Given the description of an element on the screen output the (x, y) to click on. 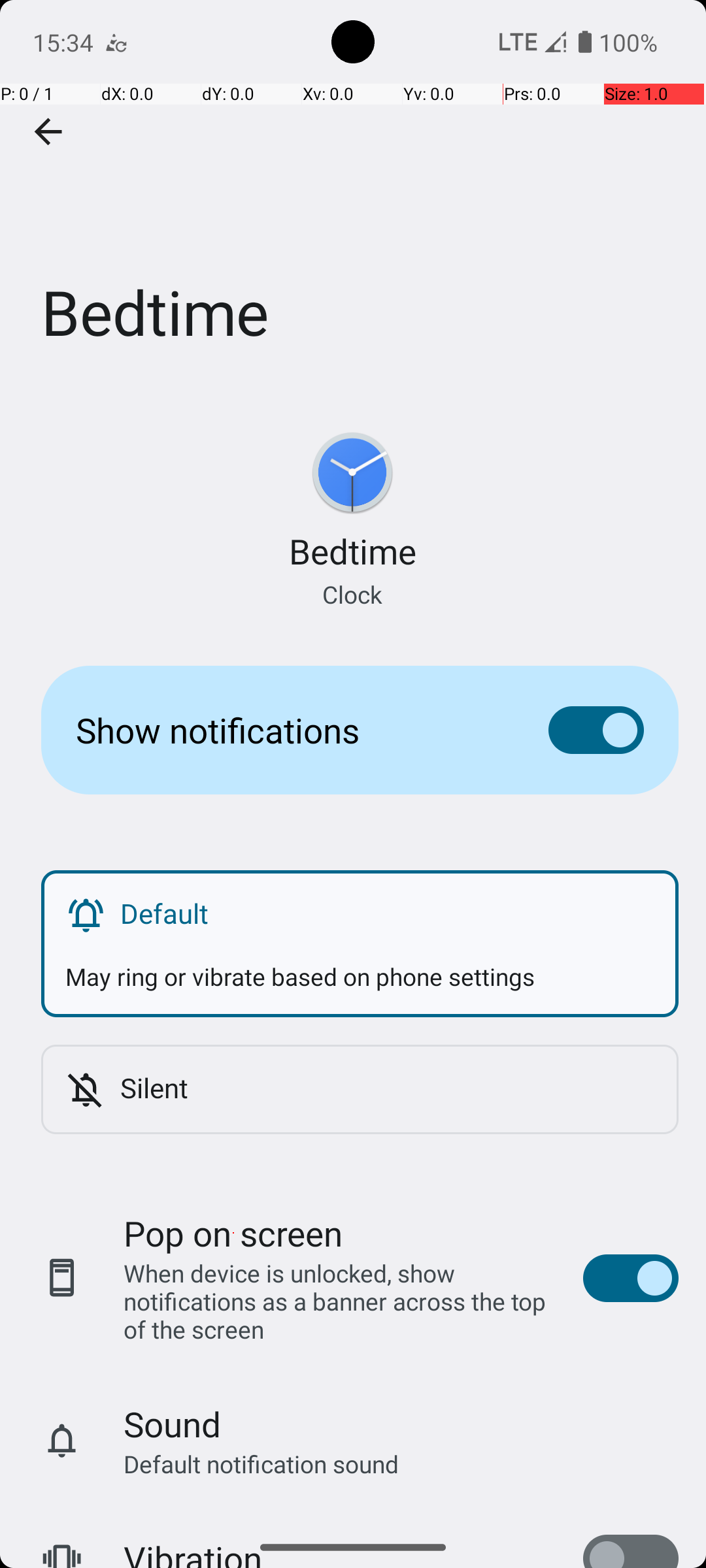
Show notifications Element type: android.widget.TextView (291, 729)
Pop on screen Element type: android.widget.TextView (233, 1232)
When device is unlocked, show notifications as a banner across the top of the screen Element type: android.widget.TextView (339, 1300)
Sound Element type: android.widget.TextView (171, 1423)
Default notification sound Element type: android.widget.TextView (260, 1463)
Default Element type: android.widget.TextView (387, 912)
May ring or vibrate based on phone settings Element type: android.widget.TextView (359, 964)
Silent Element type: android.widget.TextView (387, 1087)
